Given the description of an element on the screen output the (x, y) to click on. 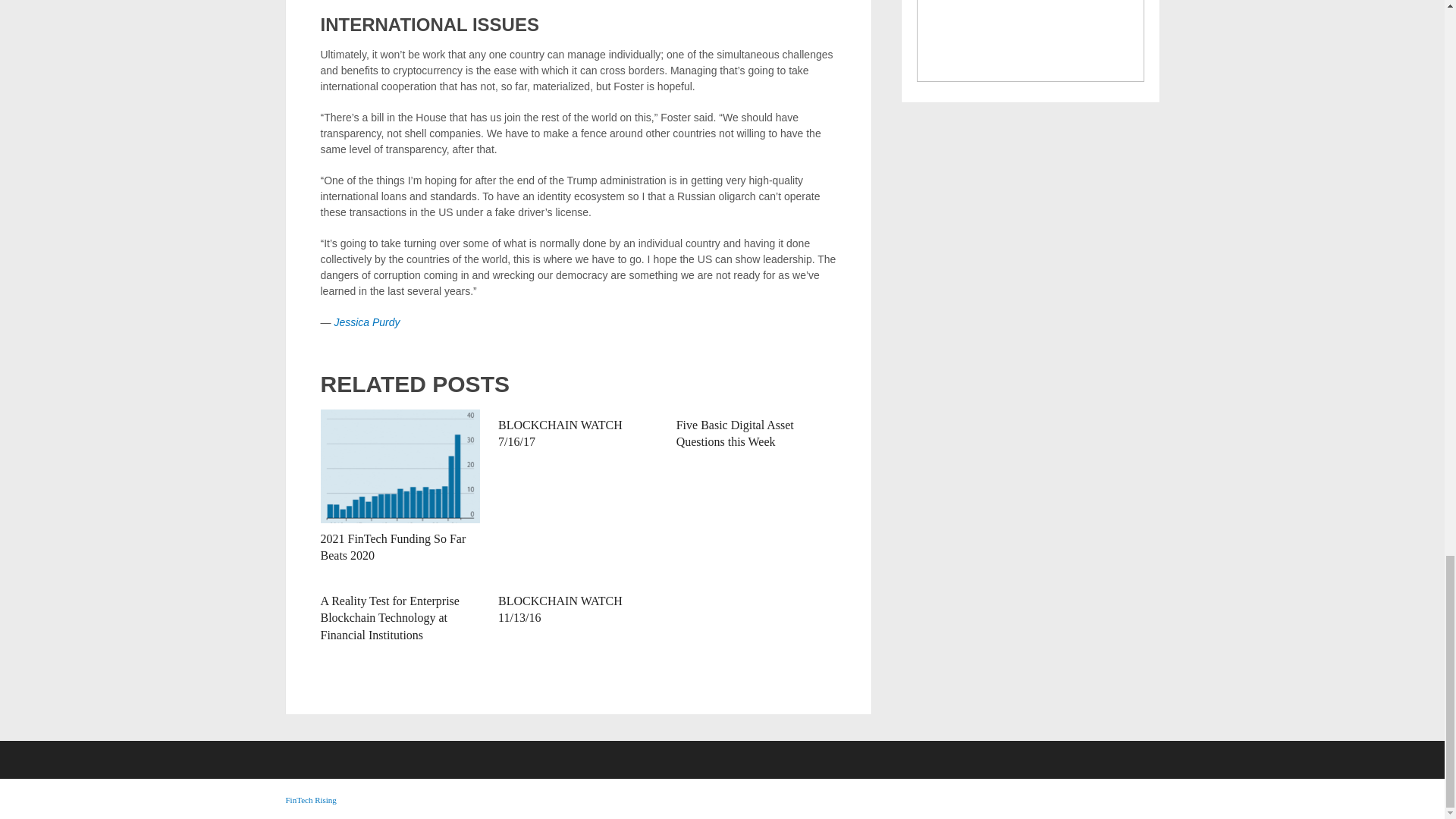
2021 FinTech Funding So Far Beats 2020 (392, 546)
Five Basic Digital Asset Questions this Week (735, 432)
2021 FinTech Funding So Far Beats 2020 (392, 546)
Five Basic Digital Asset Questions this Week (735, 432)
2021 FinTech Funding So Far Beats 2020 (400, 466)
Jessica Purdy (365, 322)
